Given the description of an element on the screen output the (x, y) to click on. 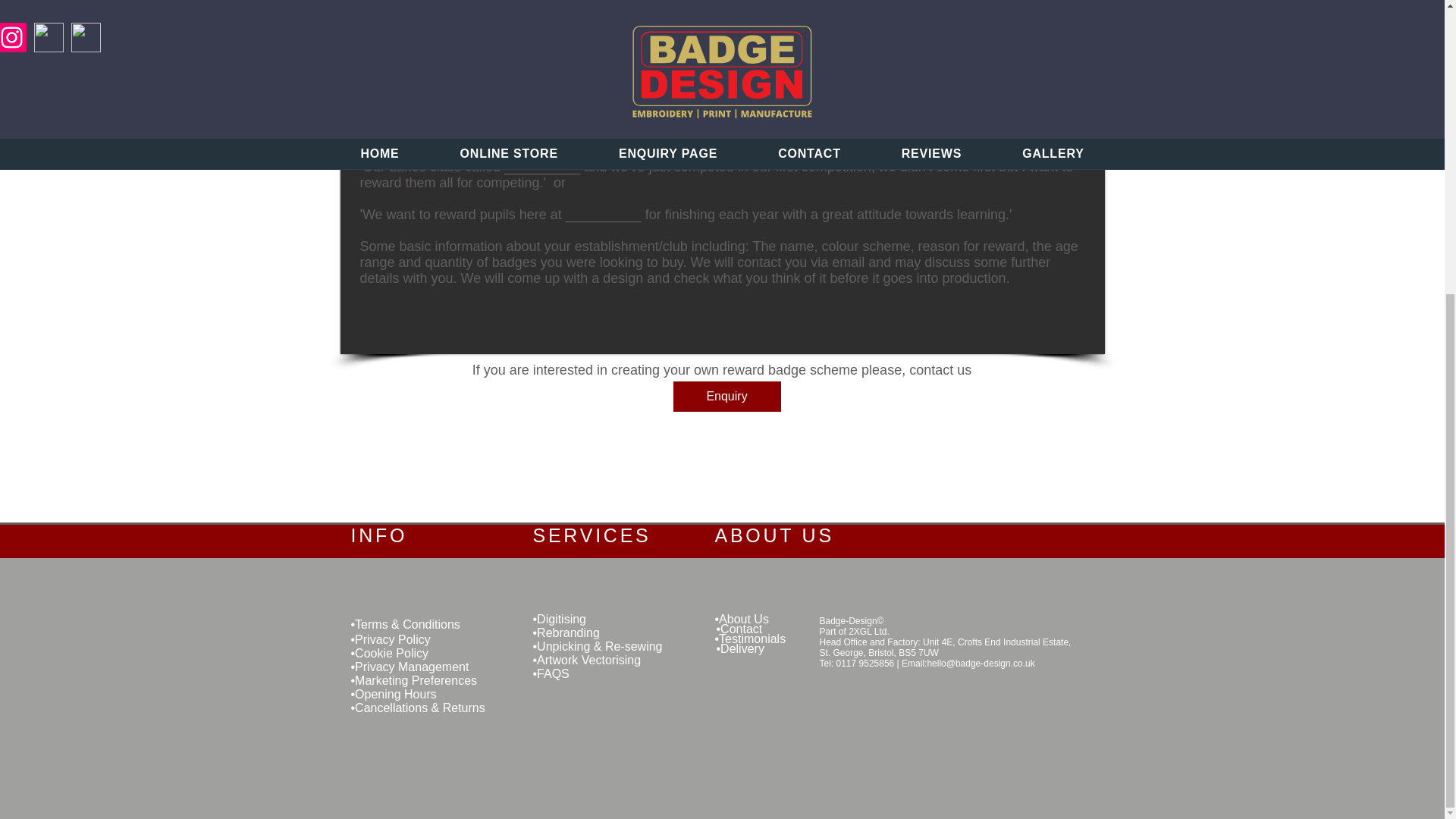
External YouTube (1272, 684)
Enquiry (726, 396)
The benefits of using badges in the classroom (936, 14)
